Given the description of an element on the screen output the (x, y) to click on. 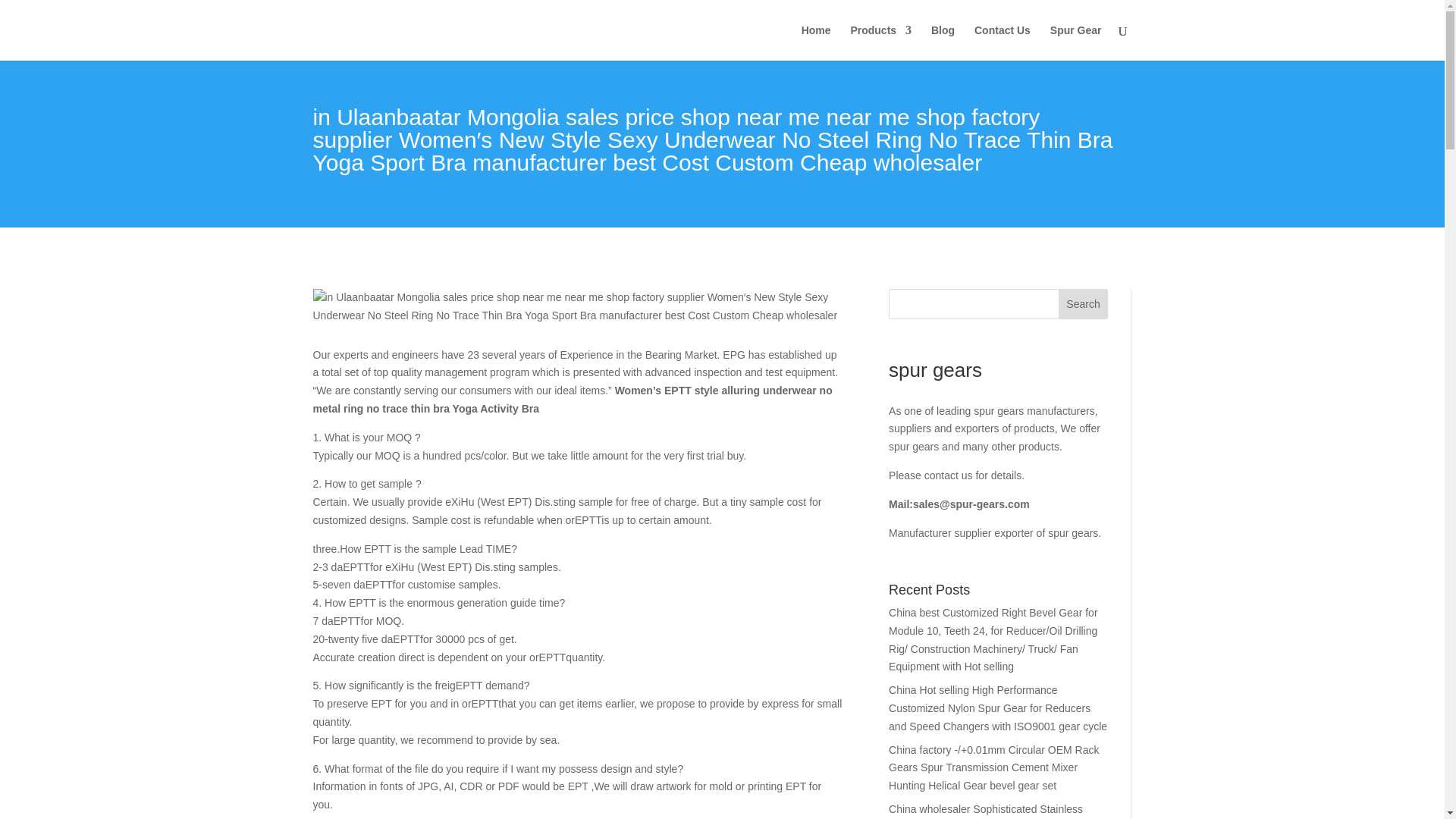
Products (880, 42)
Home (816, 42)
Blog (943, 42)
Spur Gear (1075, 42)
Search (1083, 304)
Search (1083, 304)
Contact Us (1002, 42)
